Given the description of an element on the screen output the (x, y) to click on. 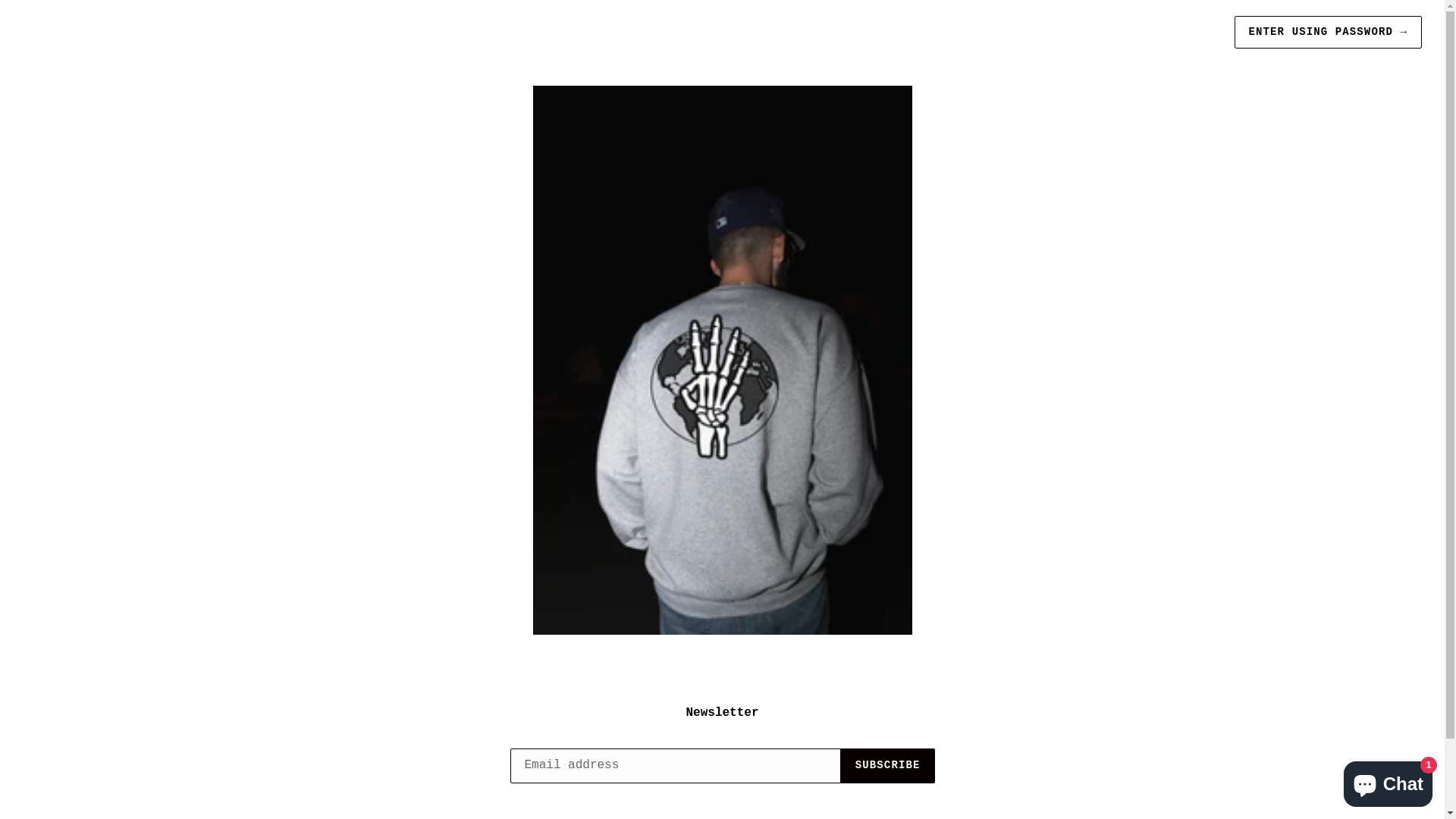
SUBSCRIBE Element type: text (887, 765)
Shopify online store chat Element type: hover (1388, 780)
